Given the description of an element on the screen output the (x, y) to click on. 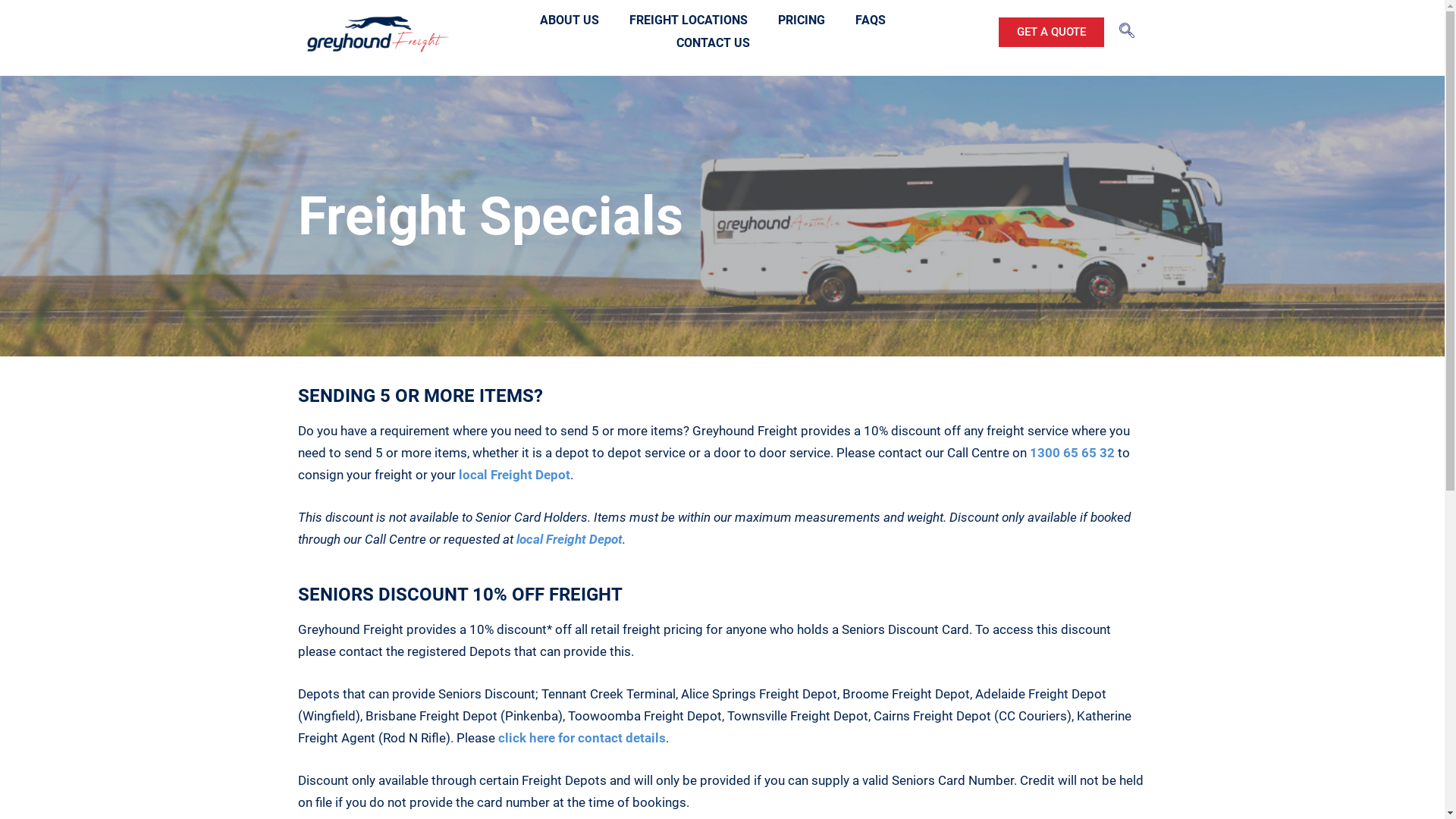
PRICING Element type: text (801, 20)
FAQS Element type: text (870, 20)
ABOUT US Element type: text (569, 20)
FREIGHT LOCATIONS Element type: text (688, 20)
GET A QUOTE Element type: text (1051, 32)
1300 65 65 32 Element type: text (1071, 452)
local Freight Depot Element type: text (513, 474)
local Freight Depot Element type: text (568, 538)
CONTACT US Element type: text (713, 42)
click here for contact details Element type: text (581, 737)
